Given the description of an element on the screen output the (x, y) to click on. 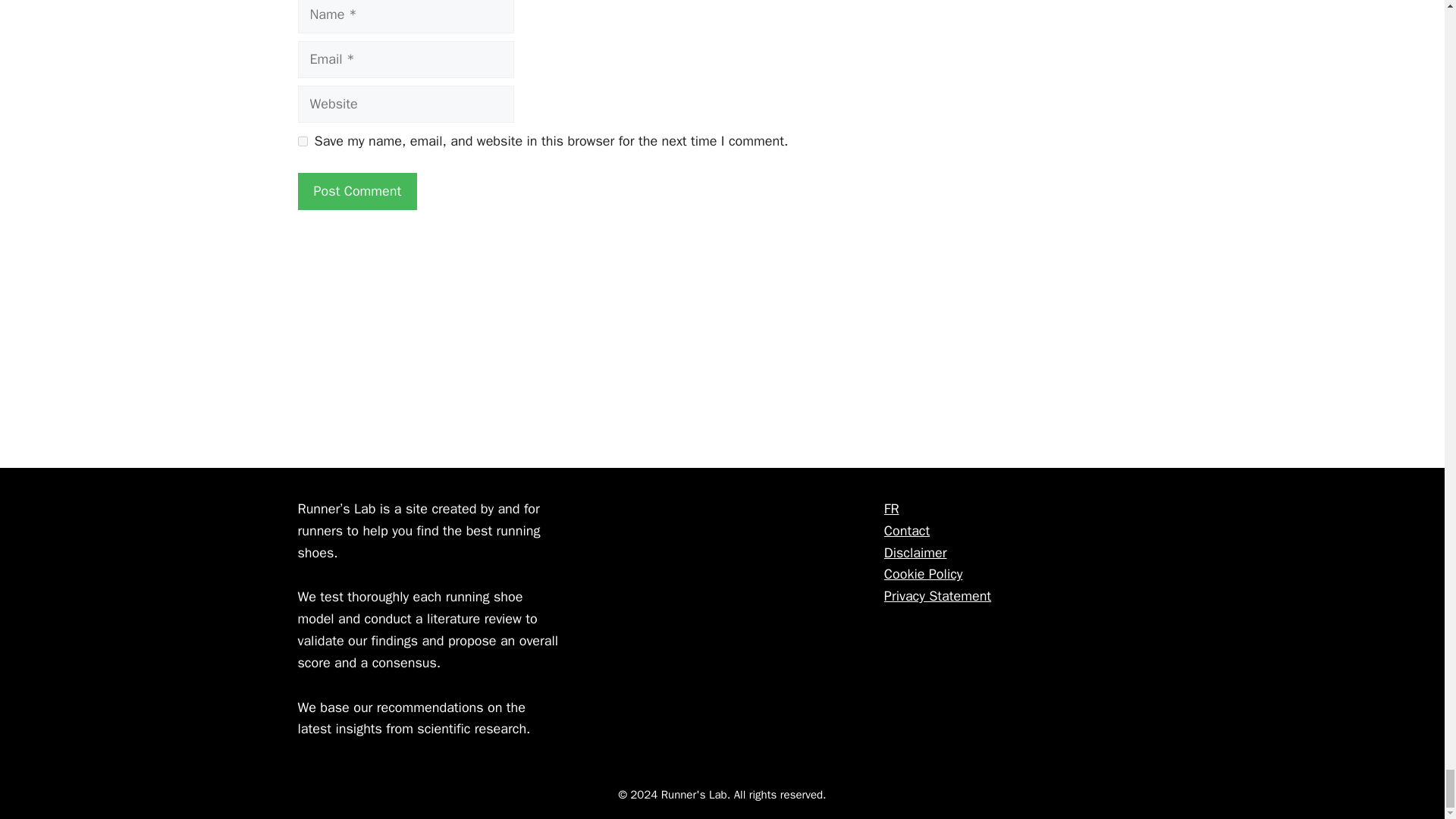
yes (302, 141)
Post Comment (356, 190)
